Given the description of an element on the screen output the (x, y) to click on. 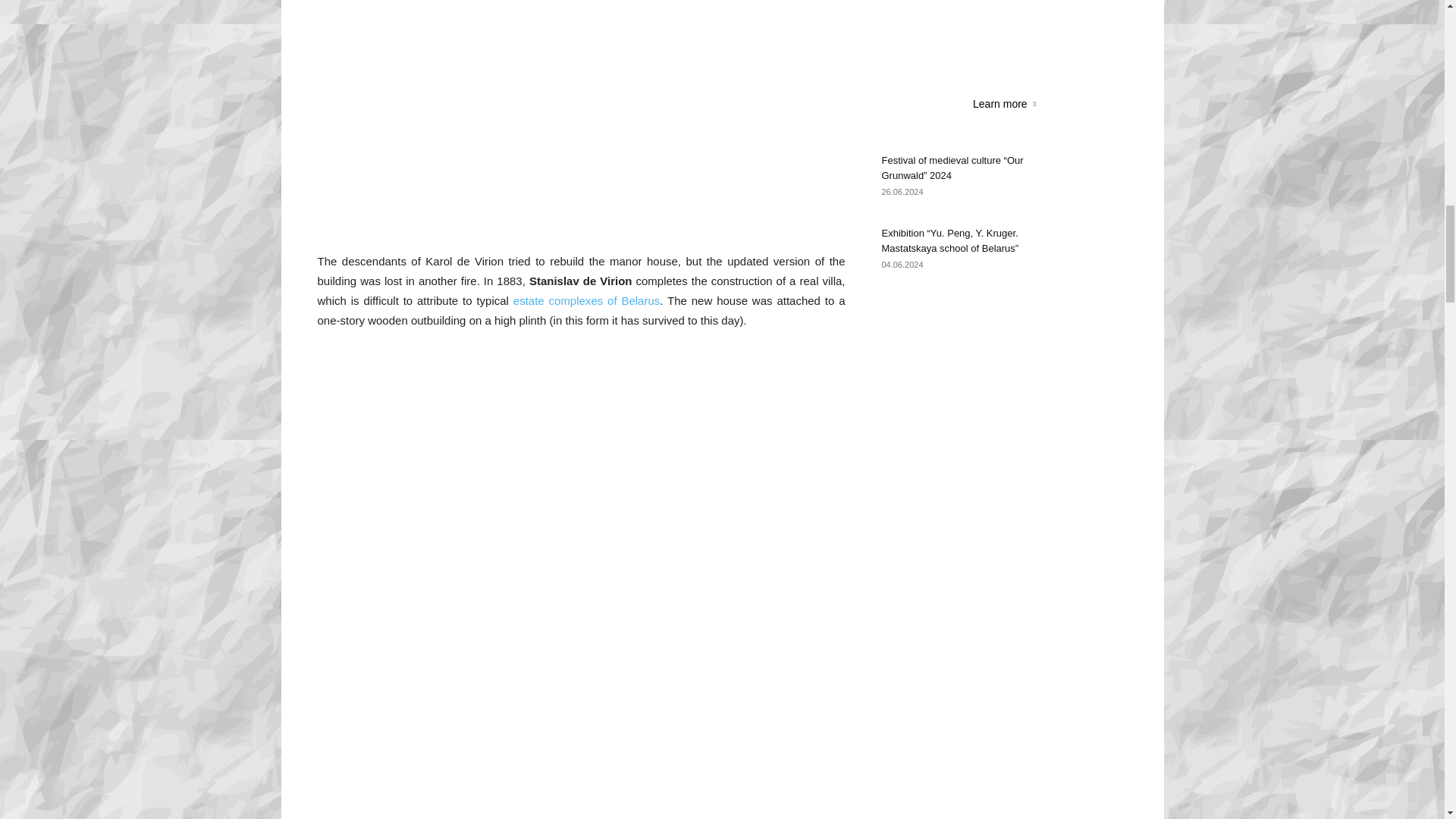
estate complexes of Belarus (587, 300)
